Given the description of an element on the screen output the (x, y) to click on. 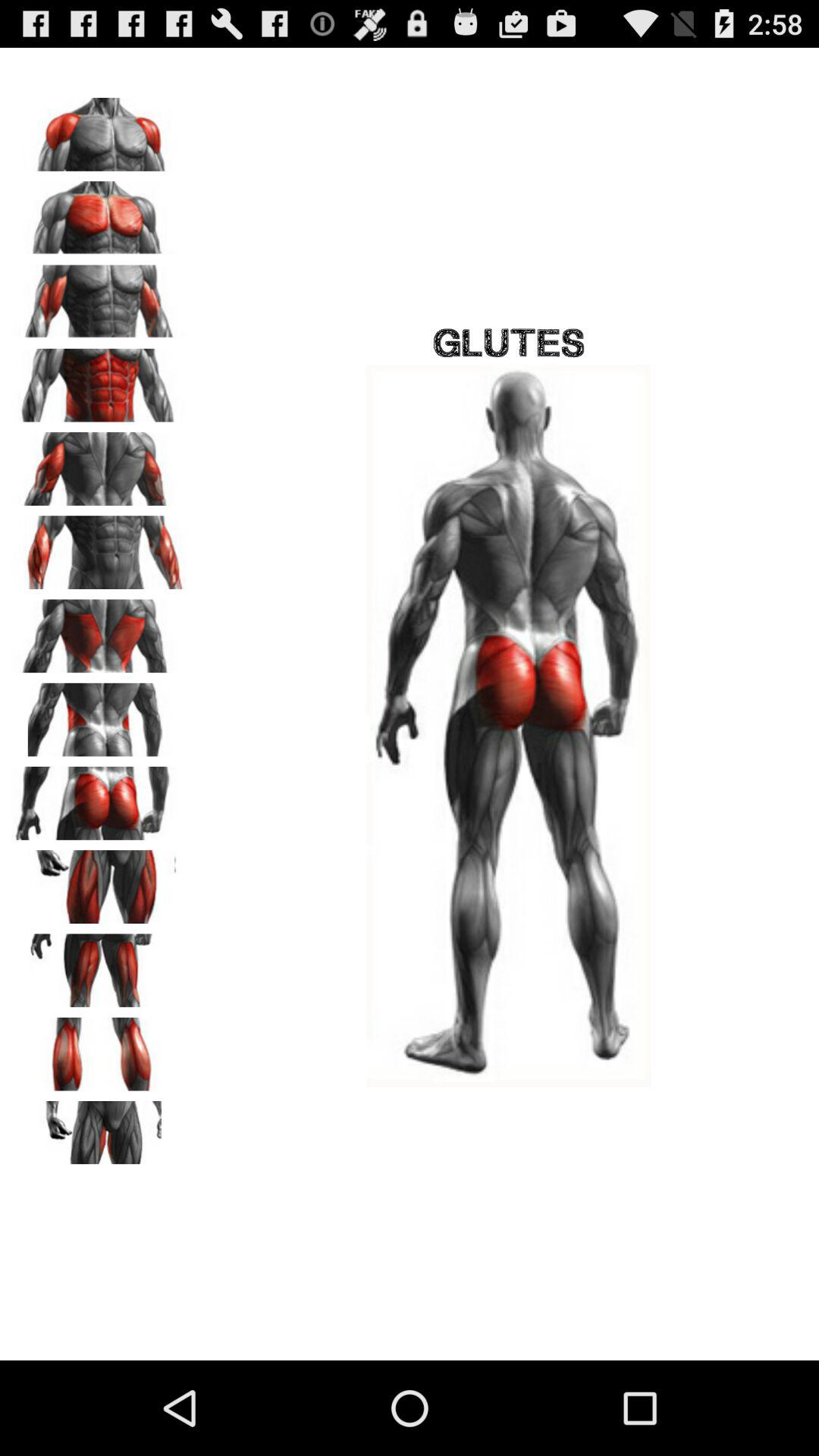
expand pic (99, 798)
